Given the description of an element on the screen output the (x, y) to click on. 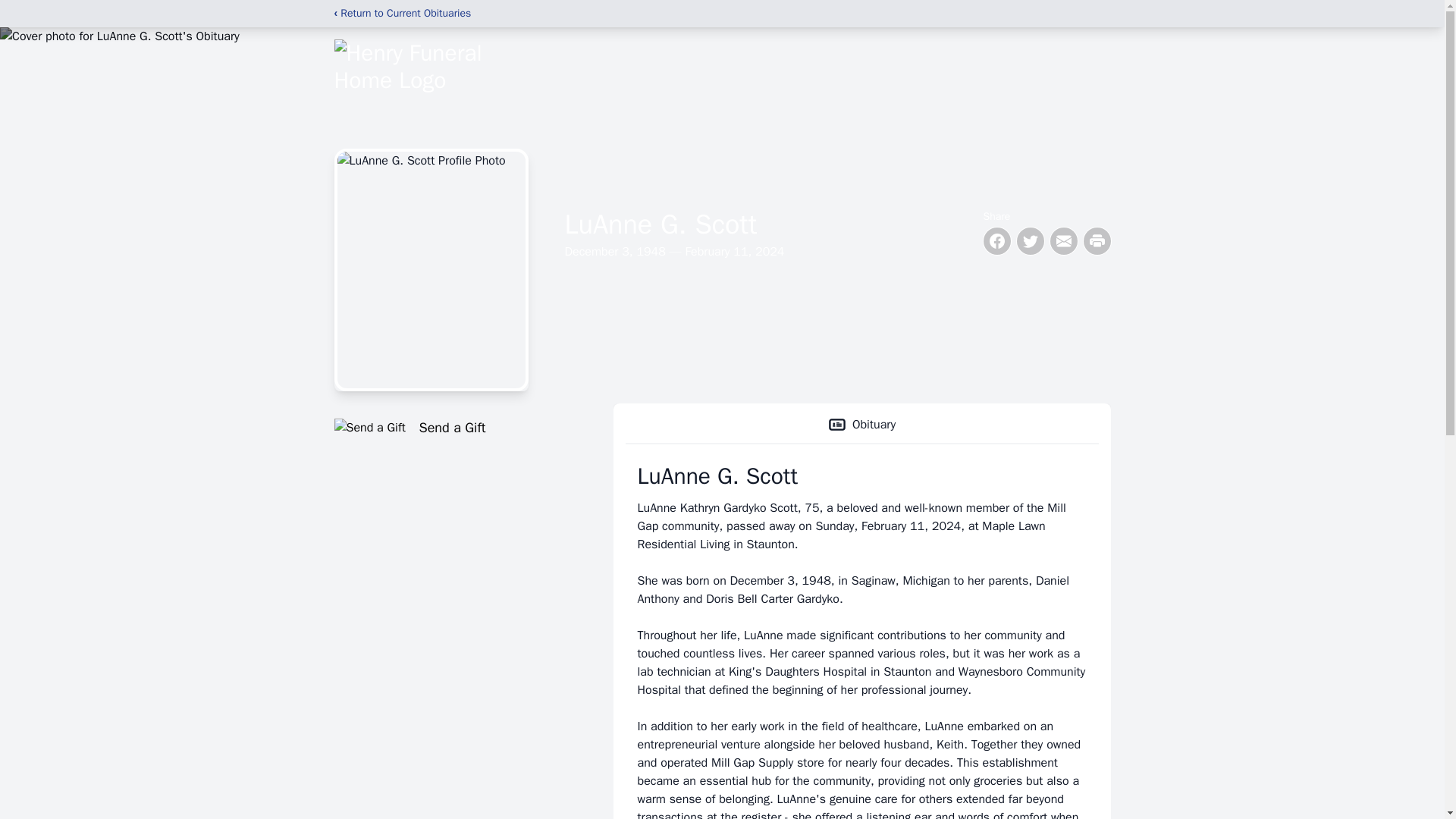
Send a Gift (454, 427)
Obituary (860, 425)
